Given the description of an element on the screen output the (x, y) to click on. 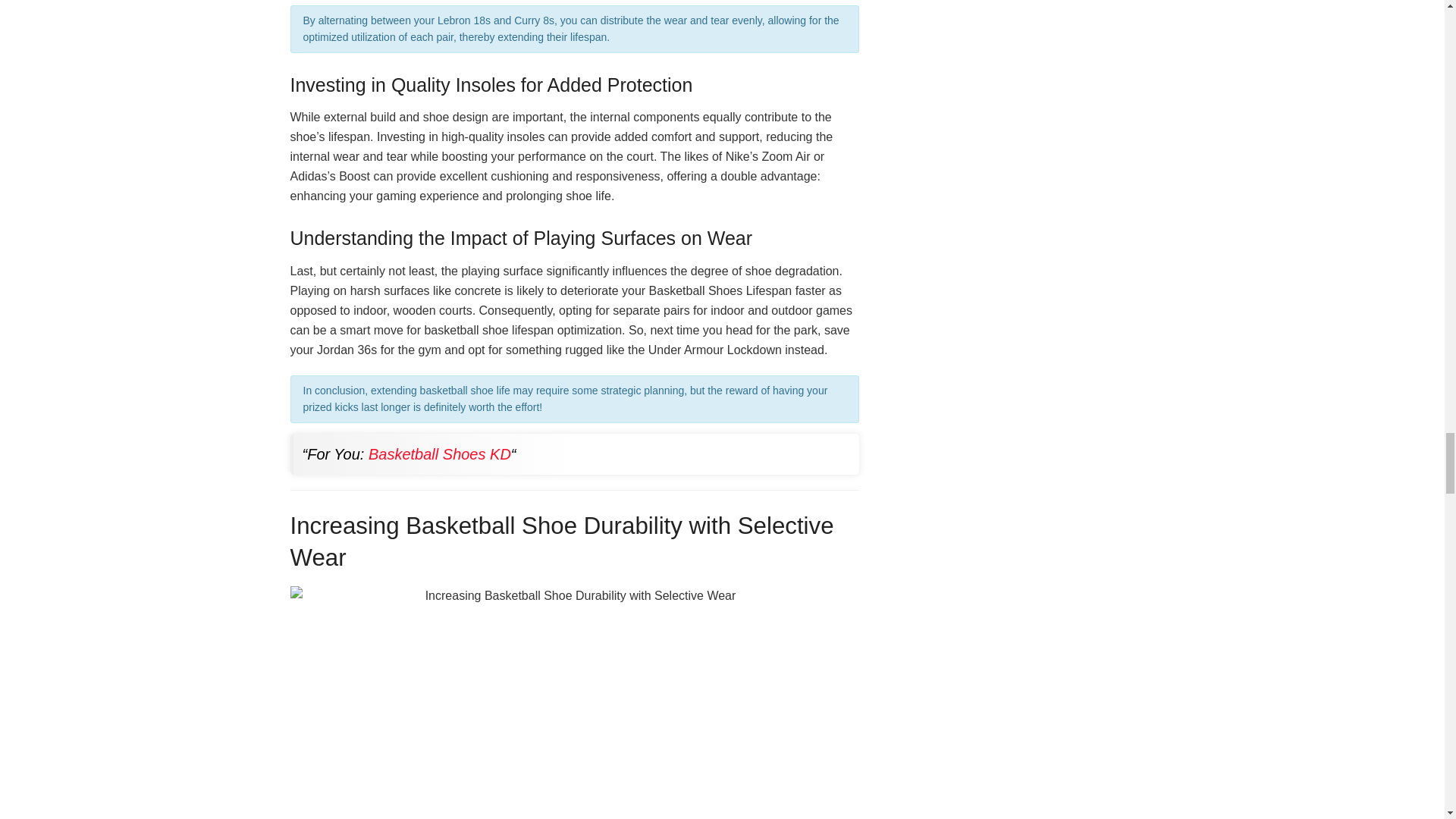
Extending of Replace Your Basketball Shoes Lifespan 5 (574, 702)
